Given the description of an element on the screen output the (x, y) to click on. 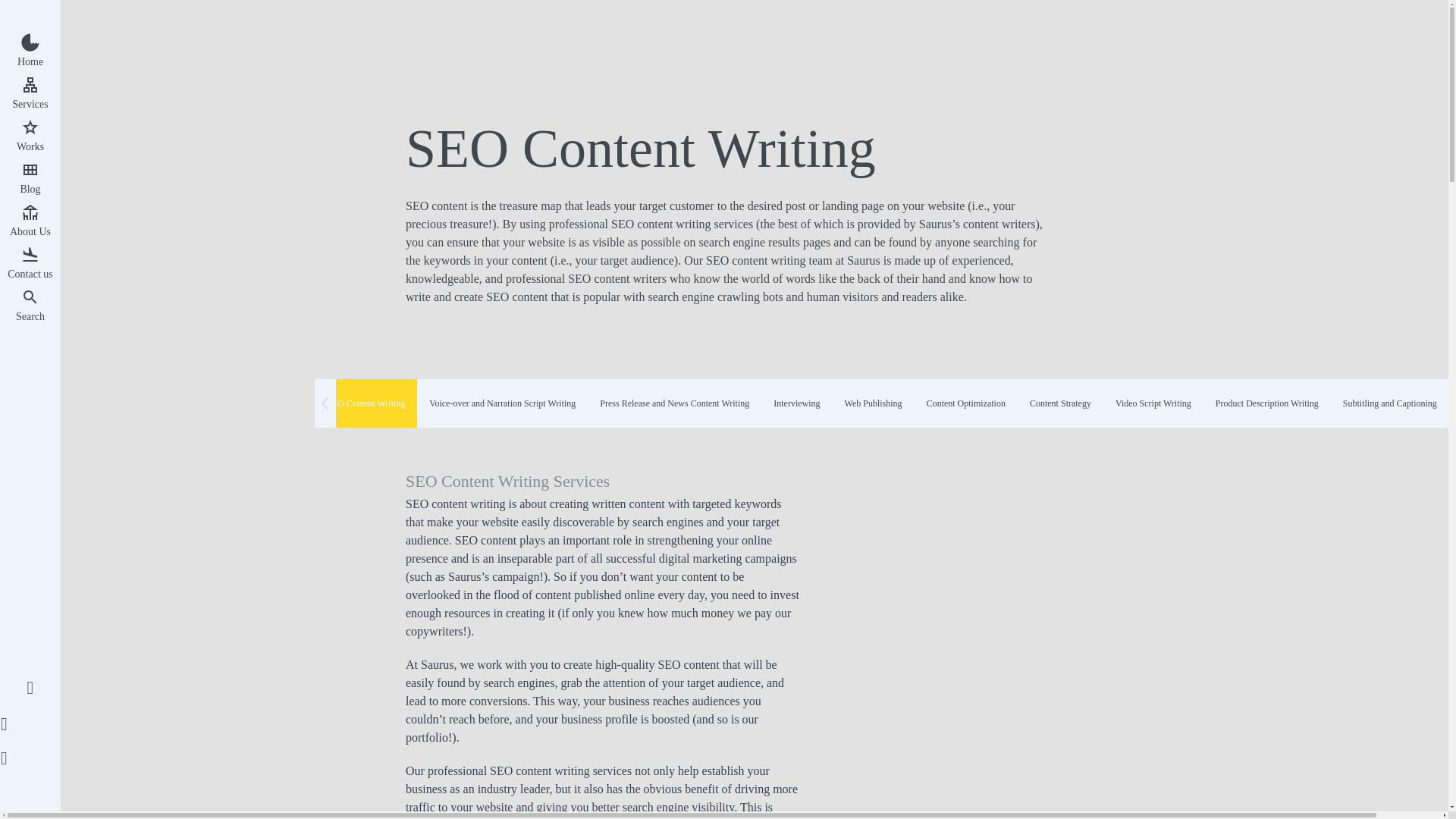
Interviewing (796, 403)
Voice-over and Narration Script Writing (502, 403)
Content Strategy (1060, 403)
Interviewing (796, 403)
Content Strategy (1060, 403)
Product Description Writing (1267, 403)
SEO Content Writing (365, 403)
Subtitling and Captioning (1389, 403)
Press Release and News Content Writing (674, 403)
SEO Content Writing (365, 403)
Services (30, 94)
Product Description Writing (1267, 403)
Press Release and News Content Writing (674, 403)
Search (30, 306)
Web Publishing (873, 403)
